Given the description of an element on the screen output the (x, y) to click on. 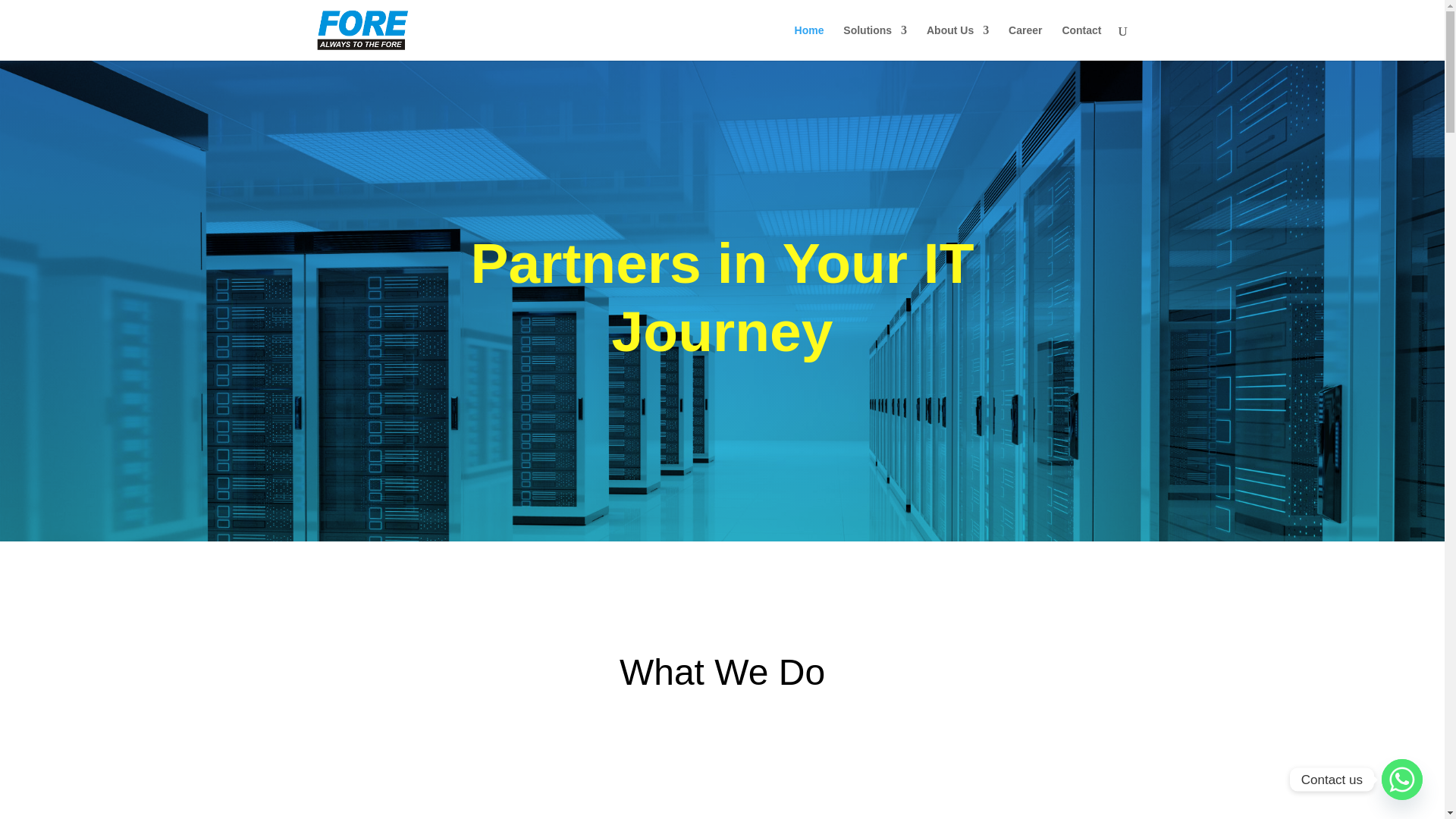
About Us (957, 42)
Contact us (1401, 779)
Contact (1080, 42)
Career (1025, 42)
Solutions (875, 42)
